Given the description of an element on the screen output the (x, y) to click on. 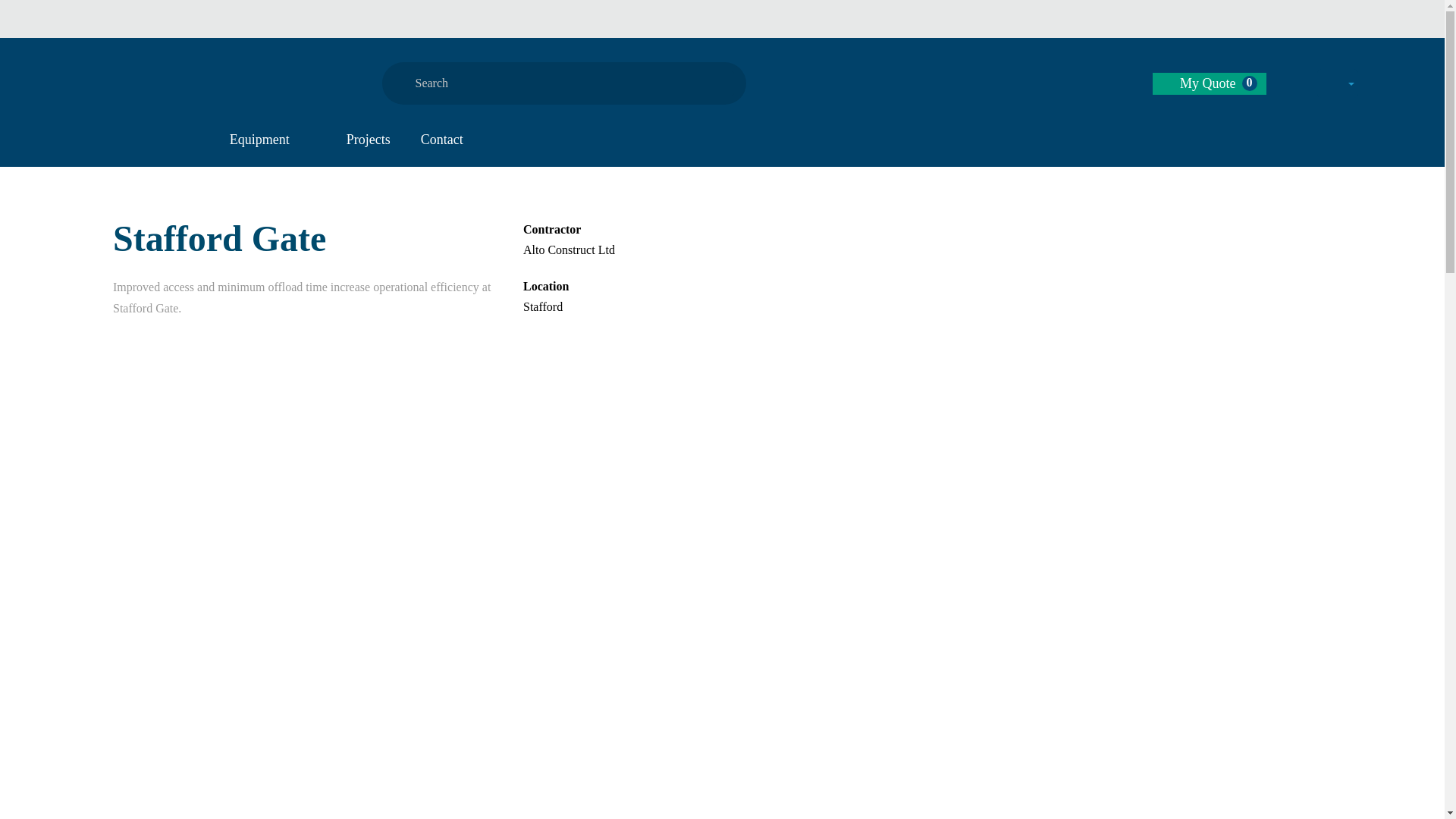
Contact (442, 142)
Projects (368, 142)
Equipment (272, 142)
